Given the description of an element on the screen output the (x, y) to click on. 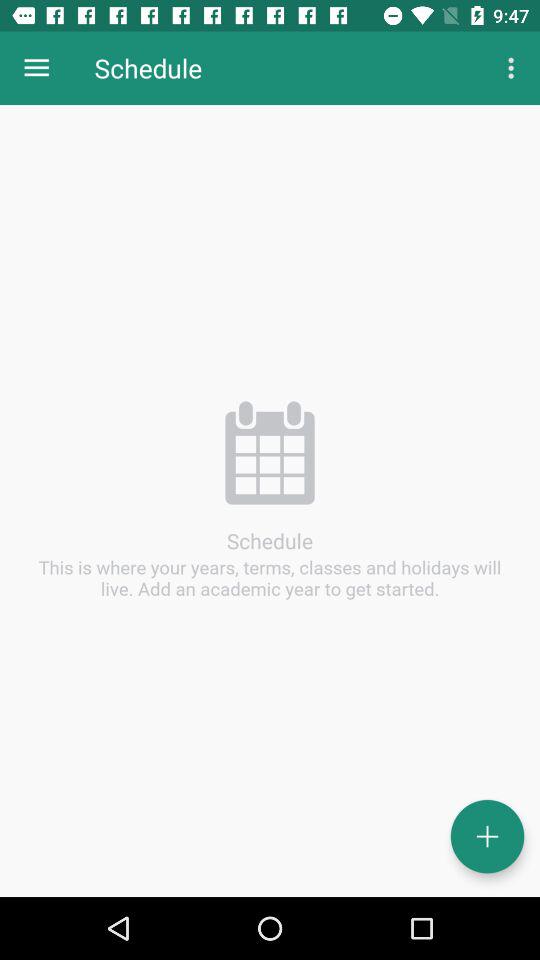
new year (487, 836)
